Given the description of an element on the screen output the (x, y) to click on. 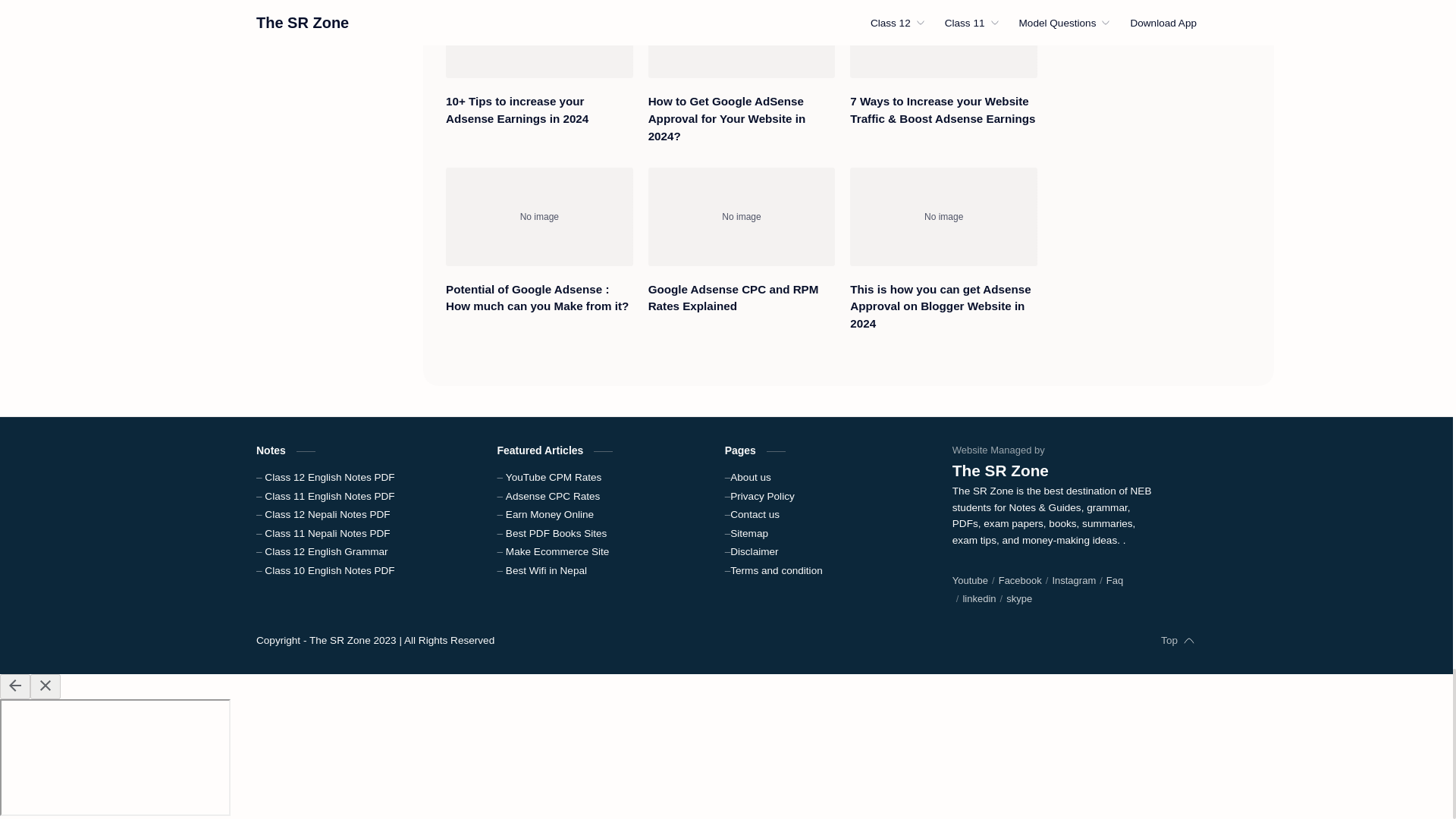
Google Adsense CPC and RPM Rates Explained (741, 216)
Google Adsense CPC and RPM Rates Explained (741, 298)
How to Get Google AdSense Approval for Your Website in 2024? (741, 118)
How to Get Google AdSense Approval for Your Website in 2024? (741, 38)
Potential of Google Adsense : How much can you Make from it? (539, 298)
Potential of Google Adsense : How much can you Make from it? (539, 216)
